Given the description of an element on the screen output the (x, y) to click on. 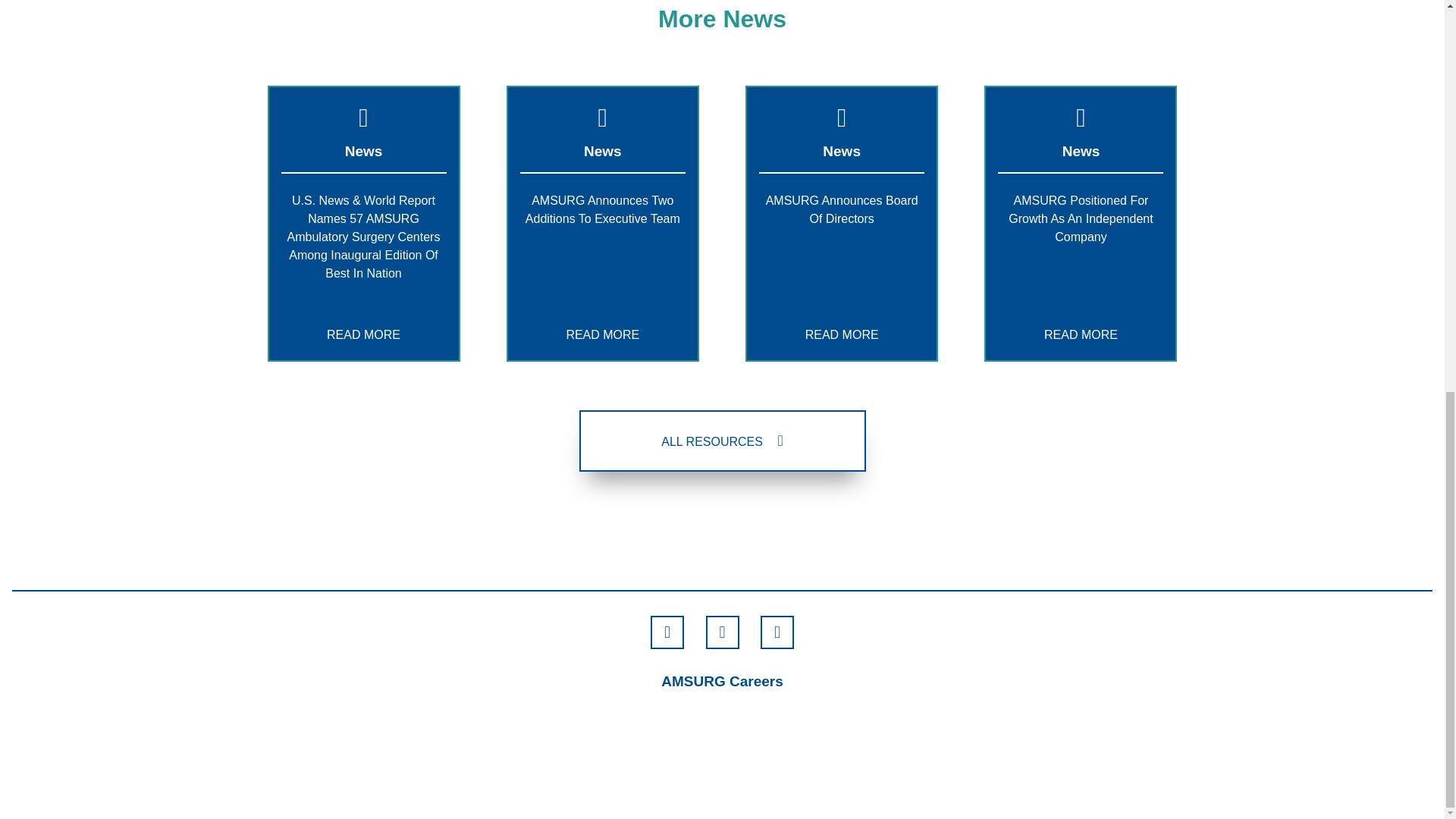
Terms of Service (843, 767)
Facebook (667, 631)
HIPAA (554, 767)
AMSURG Careers (722, 680)
ALL RESOURCES (722, 440)
Compliance (646, 767)
X (721, 631)
Billing Disclosure (967, 767)
linkedIn (776, 631)
Privacy (740, 767)
